Given the description of an element on the screen output the (x, y) to click on. 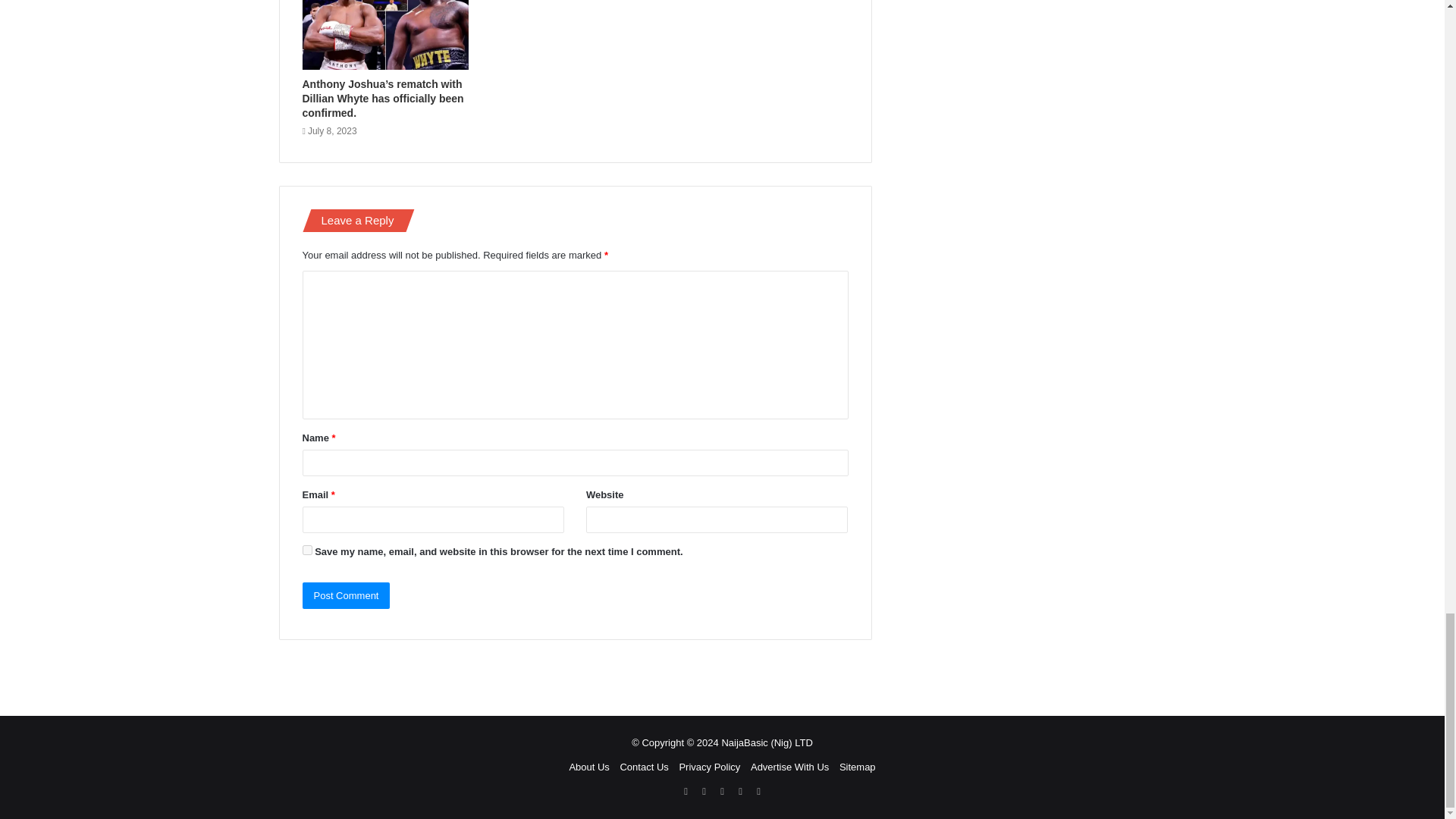
yes (306, 550)
Post Comment (345, 595)
